Given the description of an element on the screen output the (x, y) to click on. 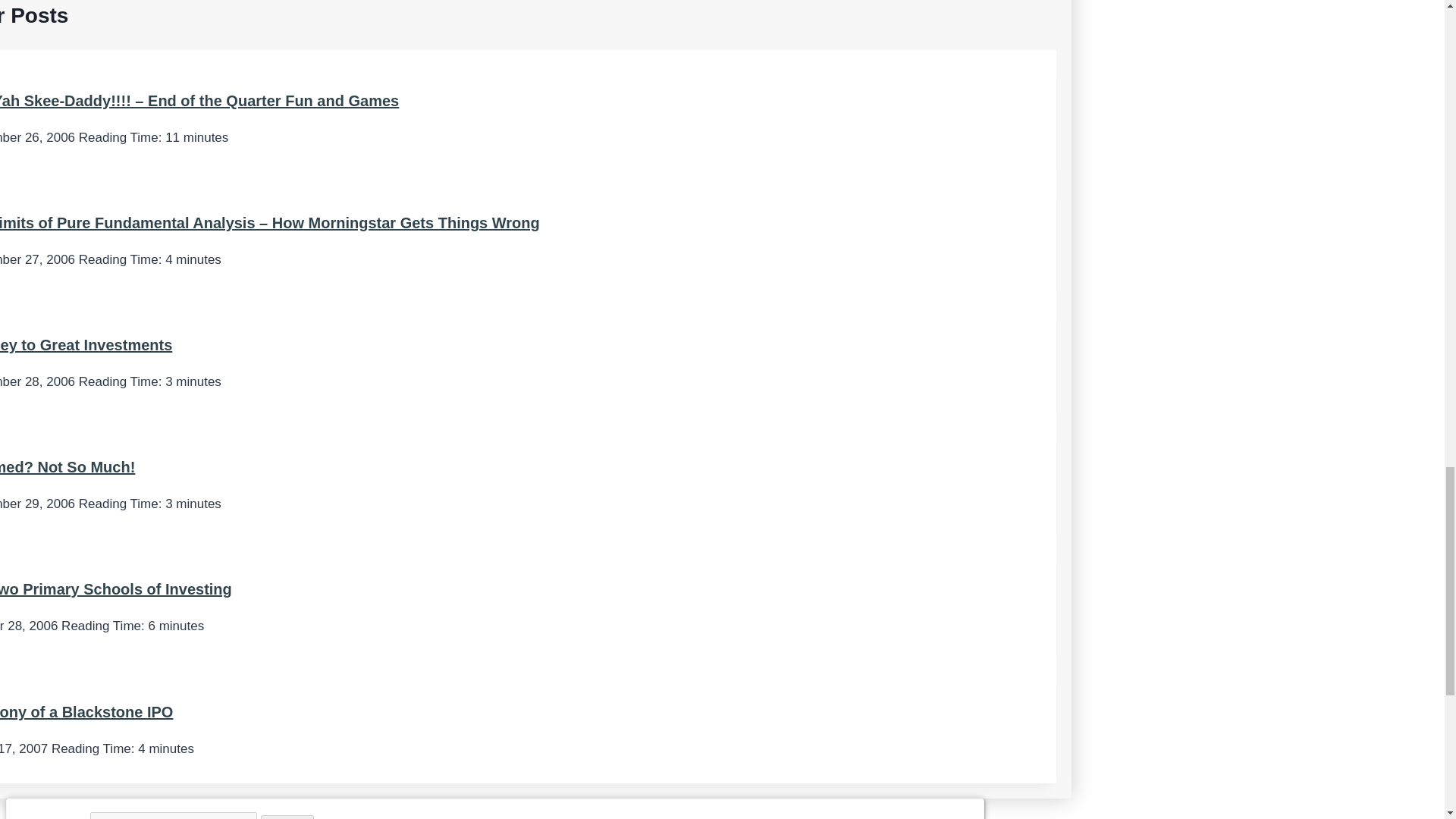
Search (287, 816)
The Irony of a Blackstone IPO (86, 711)
The Two Primary Schools of Investing (115, 588)
The Key to Great Investments (85, 344)
Charmed? Not So Much! (67, 466)
Search (287, 816)
Search (287, 816)
